Given the description of an element on the screen output the (x, y) to click on. 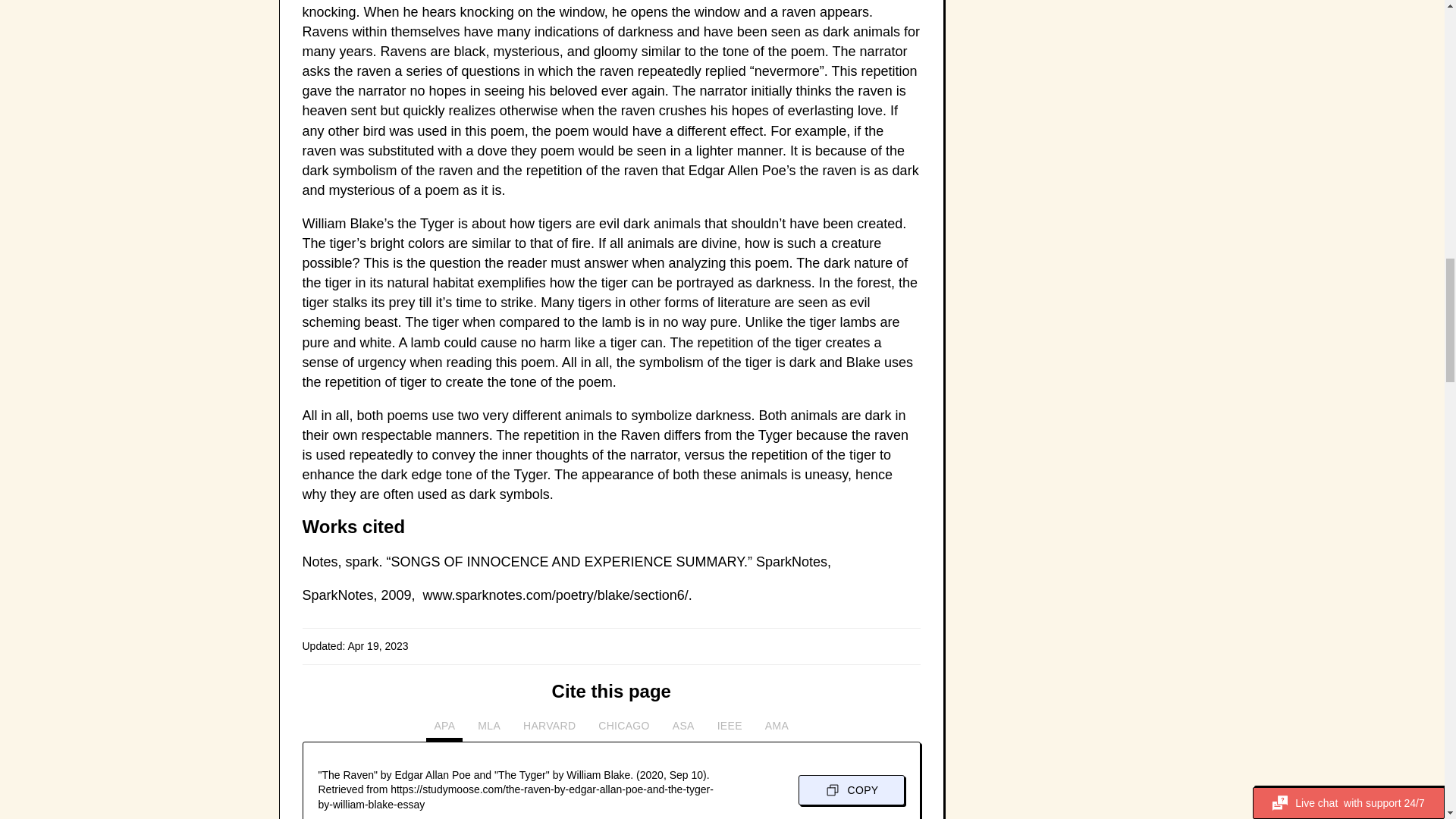
APA (444, 730)
MLA (489, 730)
HARVARD (549, 730)
